Given the description of an element on the screen output the (x, y) to click on. 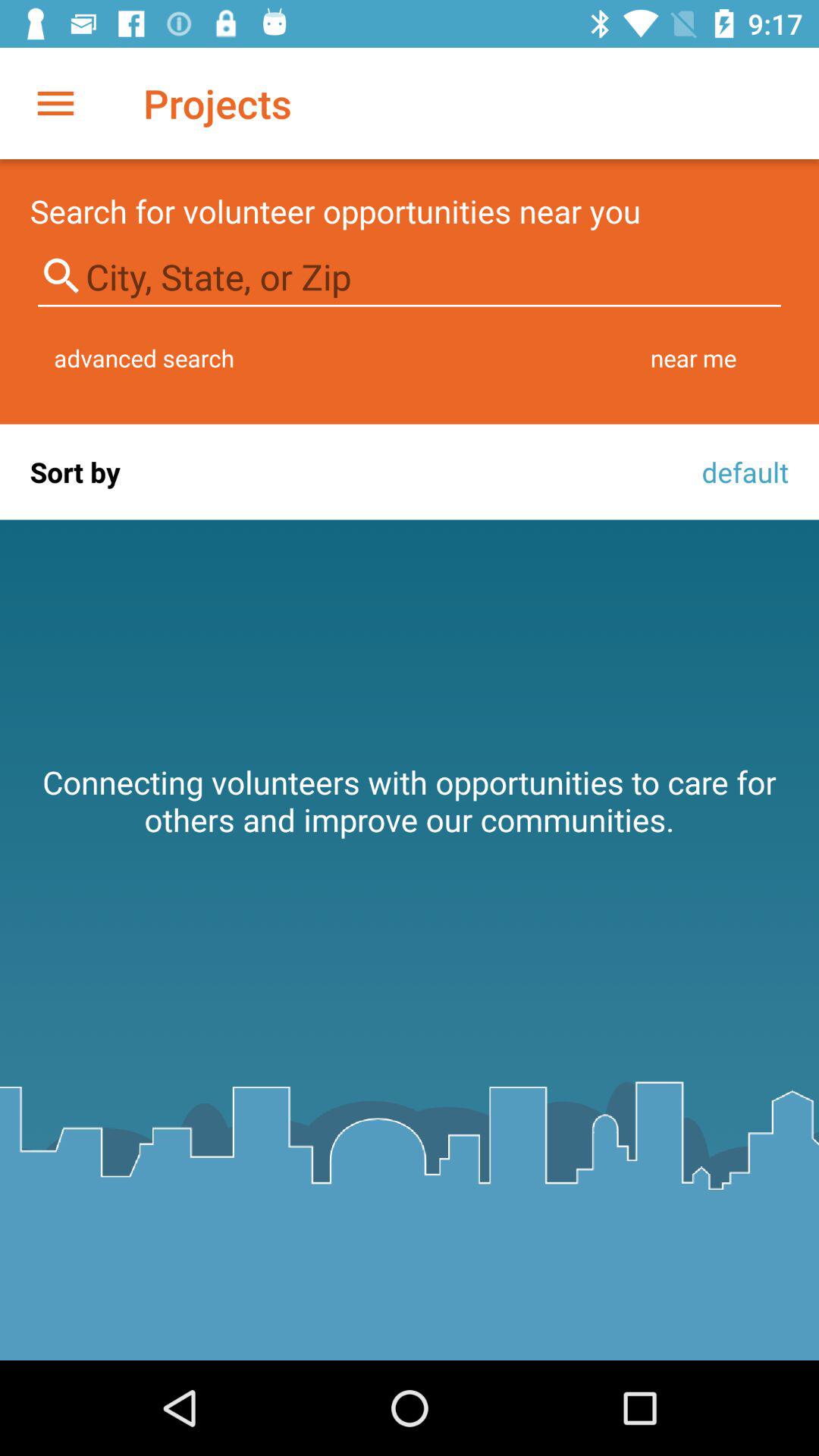
tap the item to the right of sort by icon (740, 471)
